Given the description of an element on the screen output the (x, y) to click on. 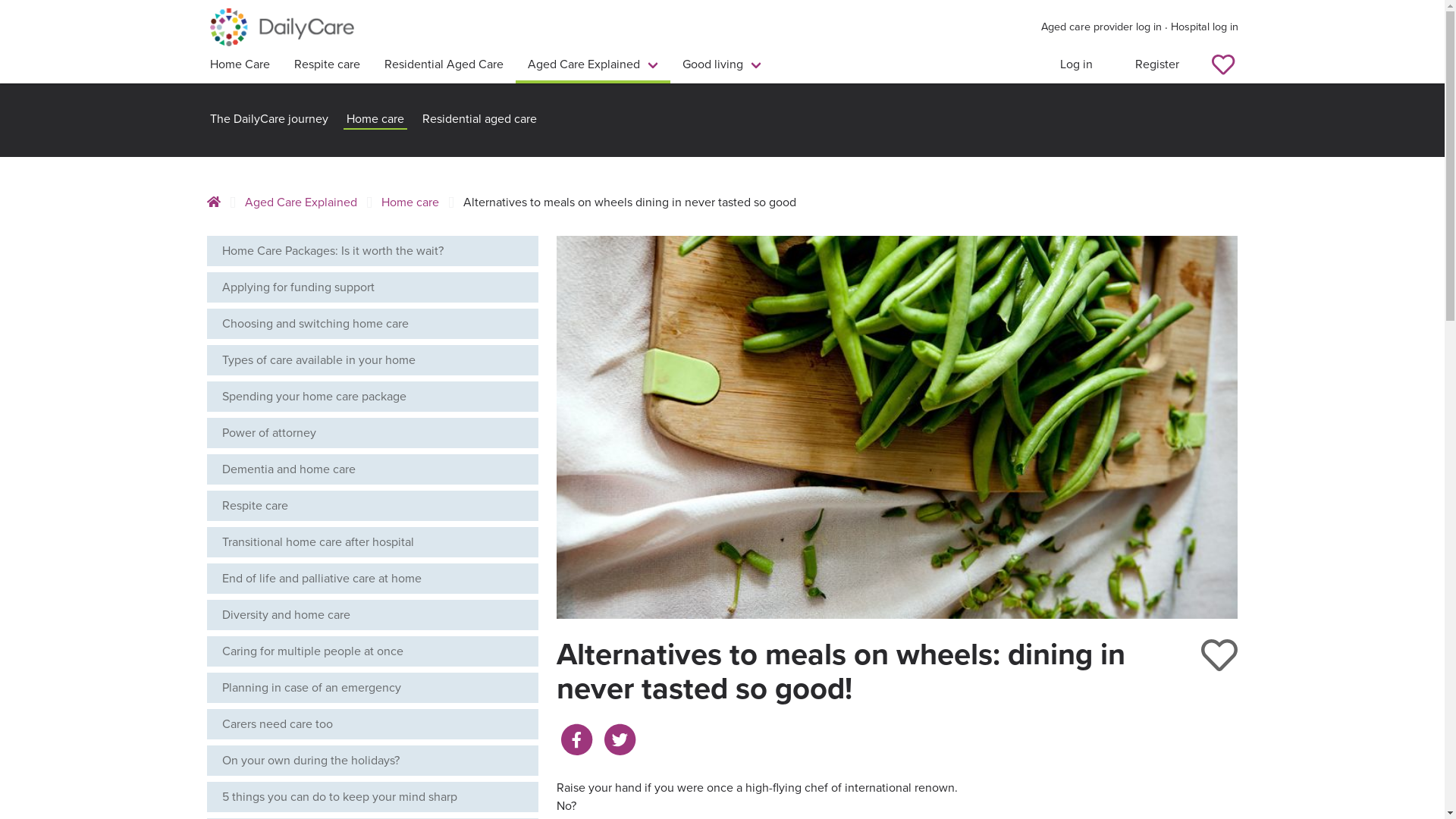
On your own during the holidays? Element type: text (371, 760)
Diversity and home care Element type: text (371, 614)
Residential Aged Care Element type: text (442, 65)
DailyCare Element type: text (281, 27)
Good living Element type: text (721, 65)
Home Care Packages: Is it worth the wait? Element type: text (371, 250)
You'll be able to review shortlist after you start saving Element type: hover (1222, 65)
Home care Element type: text (374, 119)
Respite care Element type: text (327, 65)
Home care Element type: text (409, 202)
Hospital log in Element type: text (1204, 26)
Log in Element type: text (1076, 65)
Planning in case of an emergency Element type: text (371, 687)
Aged care provider log in Element type: text (1100, 26)
Carers need care too Element type: text (371, 724)
Dementia and home care Element type: text (371, 469)
Respite care Element type: text (371, 505)
The DailyCare journey Element type: text (268, 119)
Aged Care Explained Element type: text (300, 202)
Transitional home care after hospital Element type: text (371, 542)
Home Element type: text (217, 202)
5 things you can do to keep your mind sharp Element type: text (371, 796)
Caring for multiple people at once Element type: text (371, 651)
Power of attorney Element type: text (371, 432)
Save to shortlist Element type: hover (1219, 655)
Choosing and switching home care Element type: text (371, 323)
Types of care available in your home Element type: text (371, 360)
Aged Care Explained Element type: text (592, 65)
Register Element type: text (1156, 65)
End of life and palliative care at home Element type: text (371, 578)
Residential aged care Element type: text (478, 119)
Home Care Element type: text (239, 65)
Spending your home care package Element type: text (371, 396)
Applying for funding support Element type: text (371, 287)
